Given the description of an element on the screen output the (x, y) to click on. 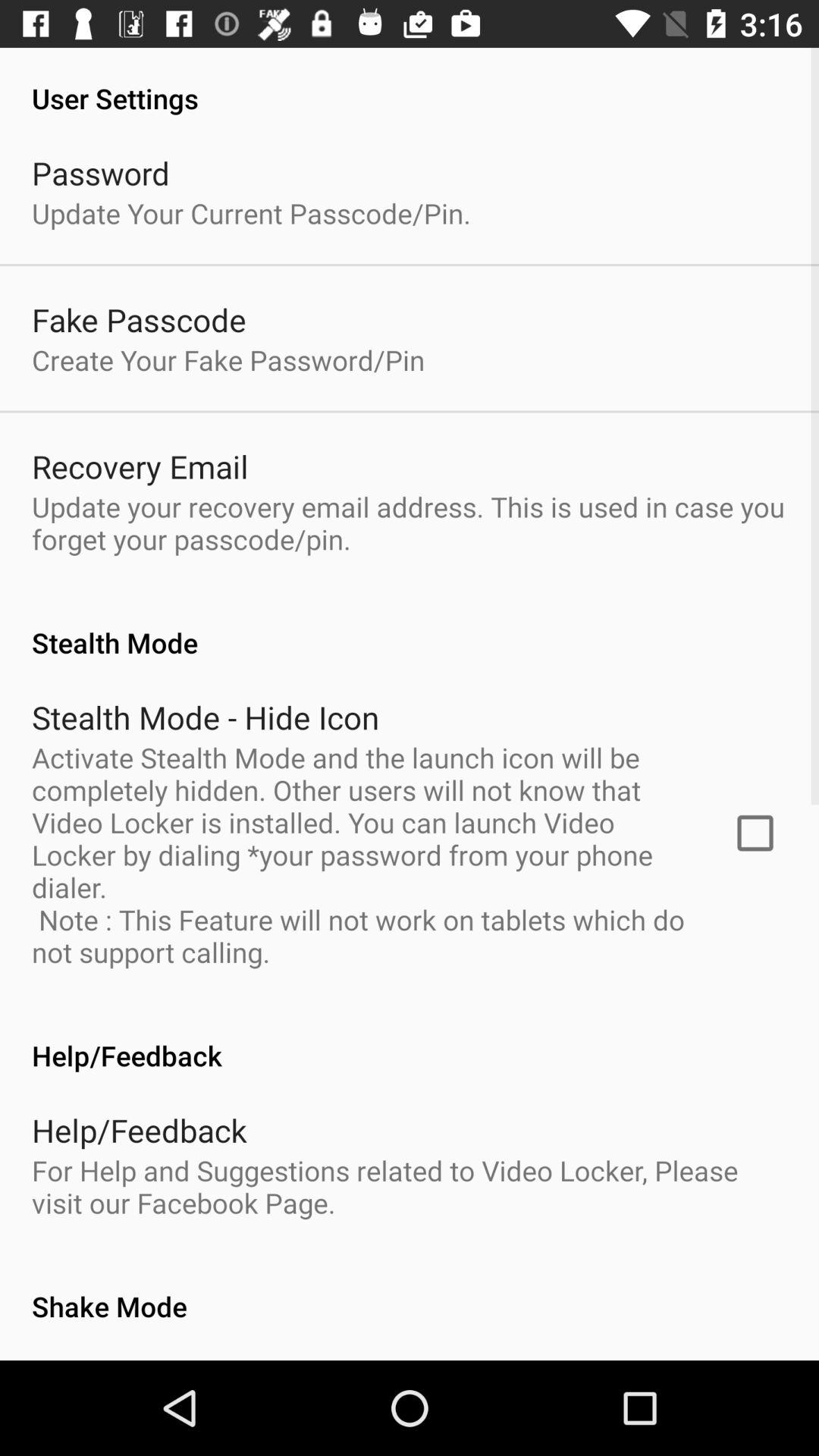
turn on the item below for help and (409, 1290)
